Given the description of an element on the screen output the (x, y) to click on. 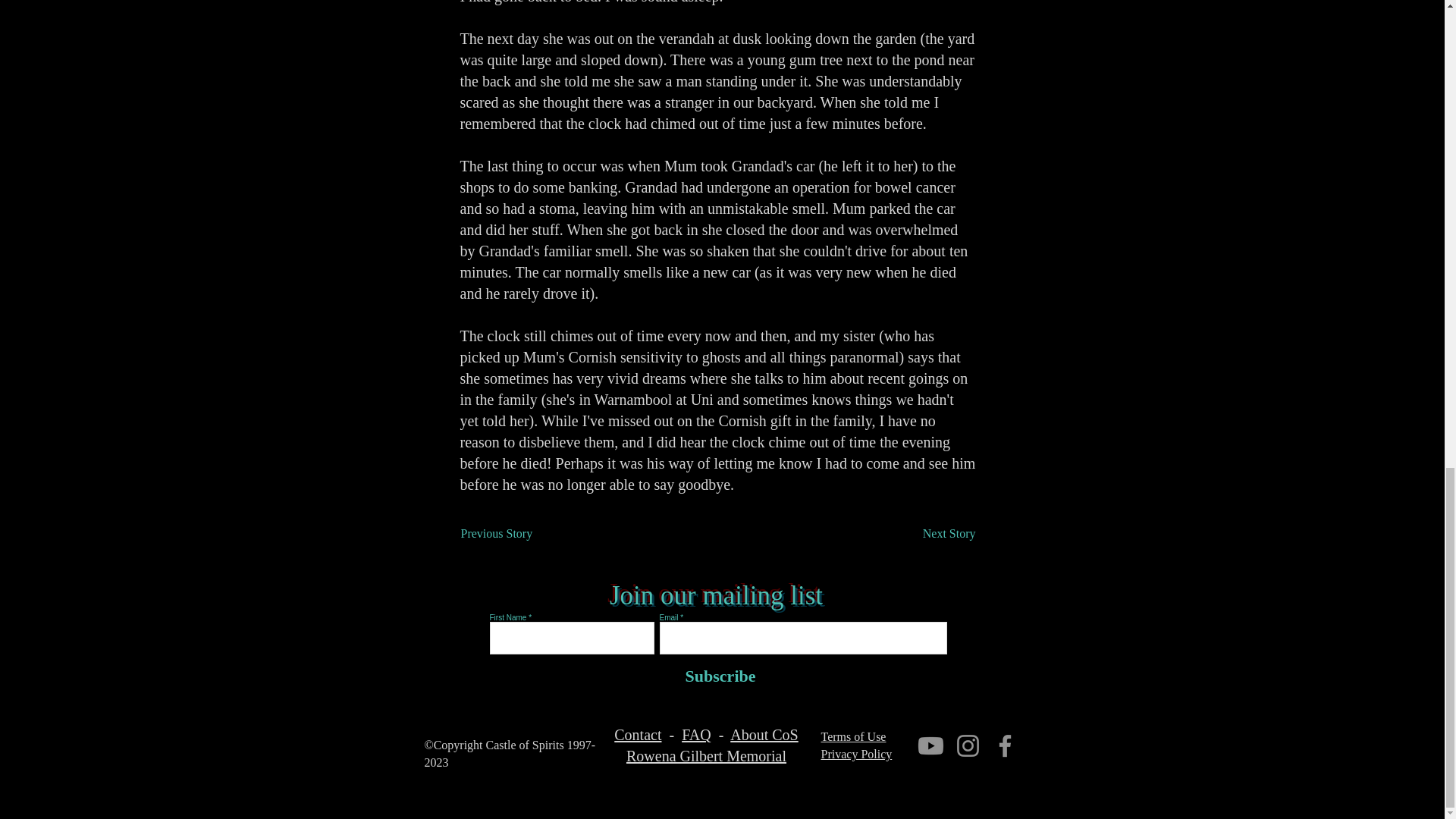
Rowena Gilbert Memorial (706, 755)
Contact (637, 734)
Terms of Use (853, 736)
Next Story (937, 533)
Privacy Policy (856, 753)
Subscribe (717, 676)
About CoS (763, 734)
FAQ (696, 734)
Previous Story (510, 533)
